Given the description of an element on the screen output the (x, y) to click on. 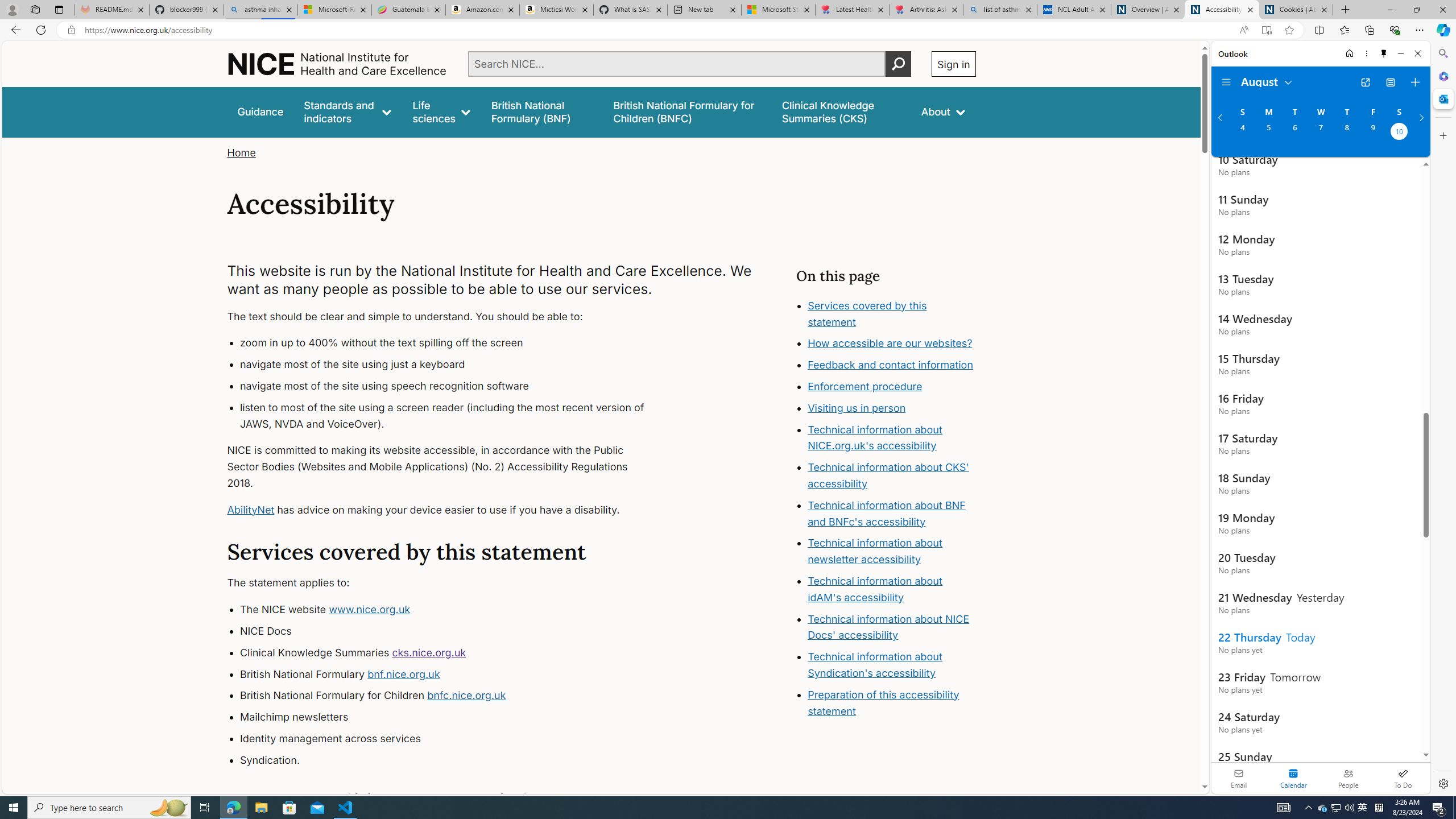
navigate most of the site using speech recognition software (452, 385)
Feedback and contact information (891, 365)
Technical information about NICE.org.uk's accessibility (875, 437)
asthma inhaler - Search (260, 9)
British National Formulary bnf.nice.org.uk (452, 674)
